Given the description of an element on the screen output the (x, y) to click on. 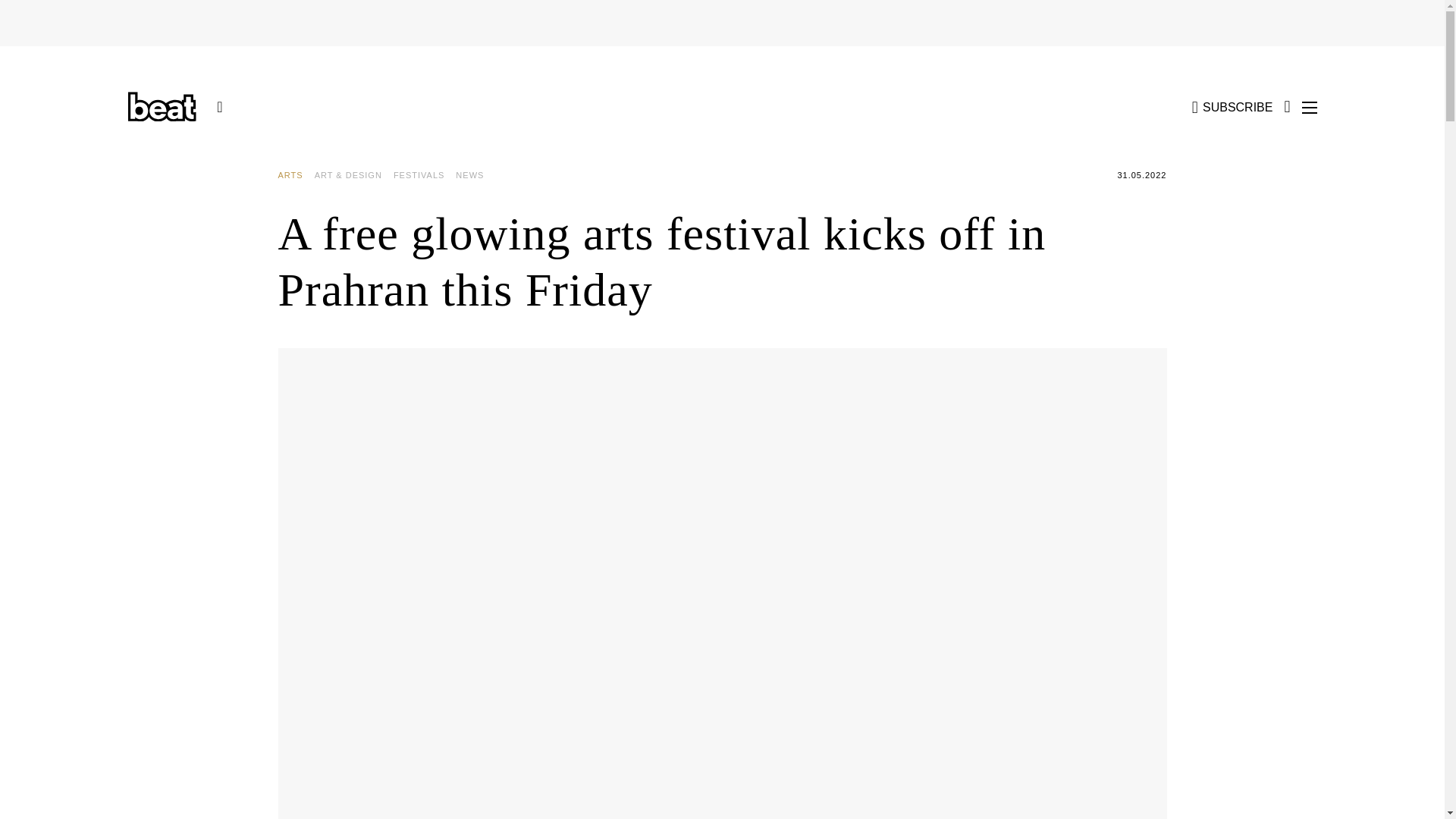
NEWS (475, 175)
FESTIVALS (424, 175)
ARTS (296, 175)
